Given the description of an element on the screen output the (x, y) to click on. 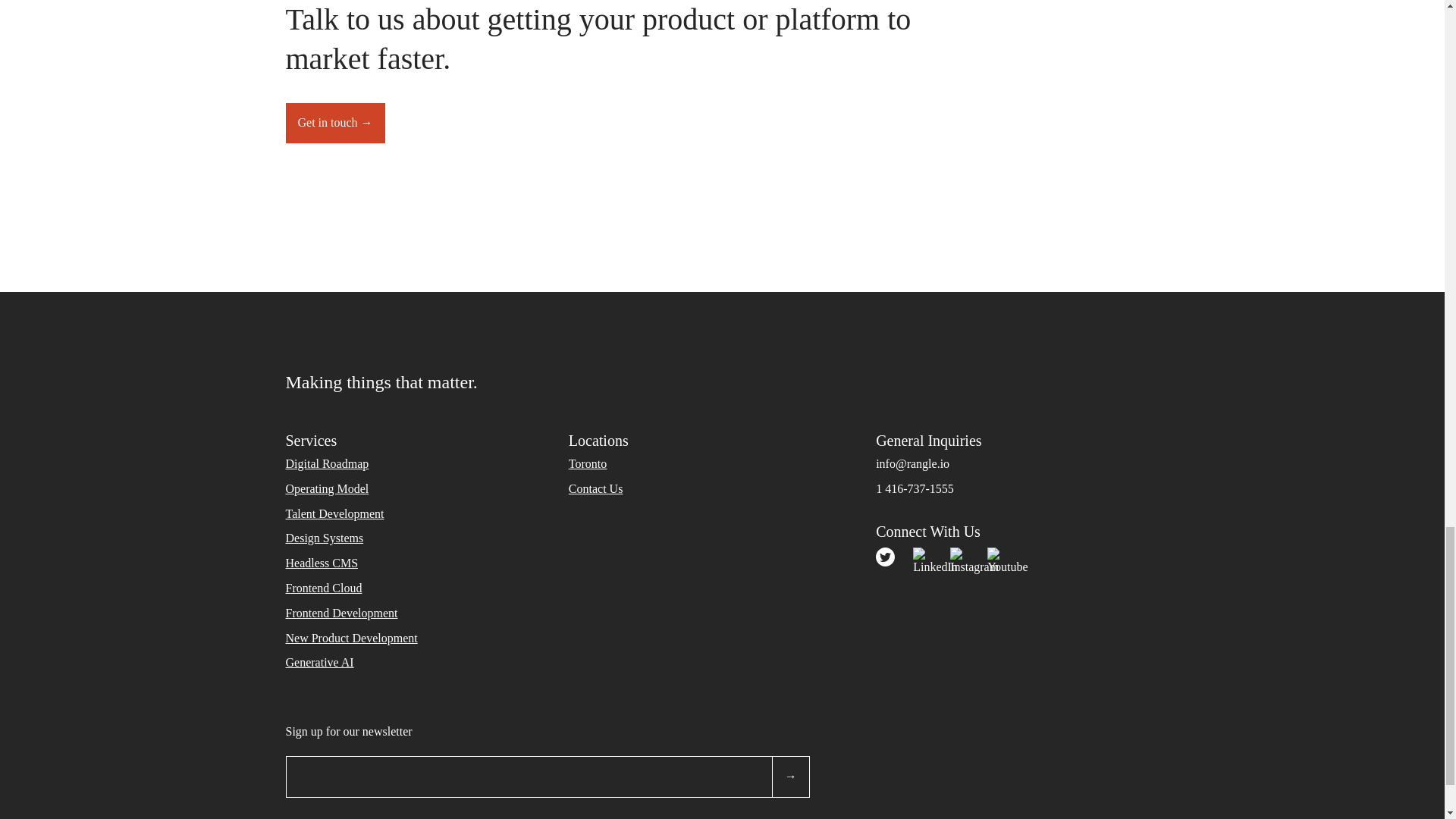
New Product Development (350, 636)
Talent Development (334, 513)
Toronto (588, 463)
Operating Model (326, 488)
Design Systems (323, 537)
1 416-737-1555 (914, 488)
Contact Us (596, 488)
Headless CMS (321, 562)
Digital Roadmap (326, 463)
Frontend Development (341, 612)
